Given the description of an element on the screen output the (x, y) to click on. 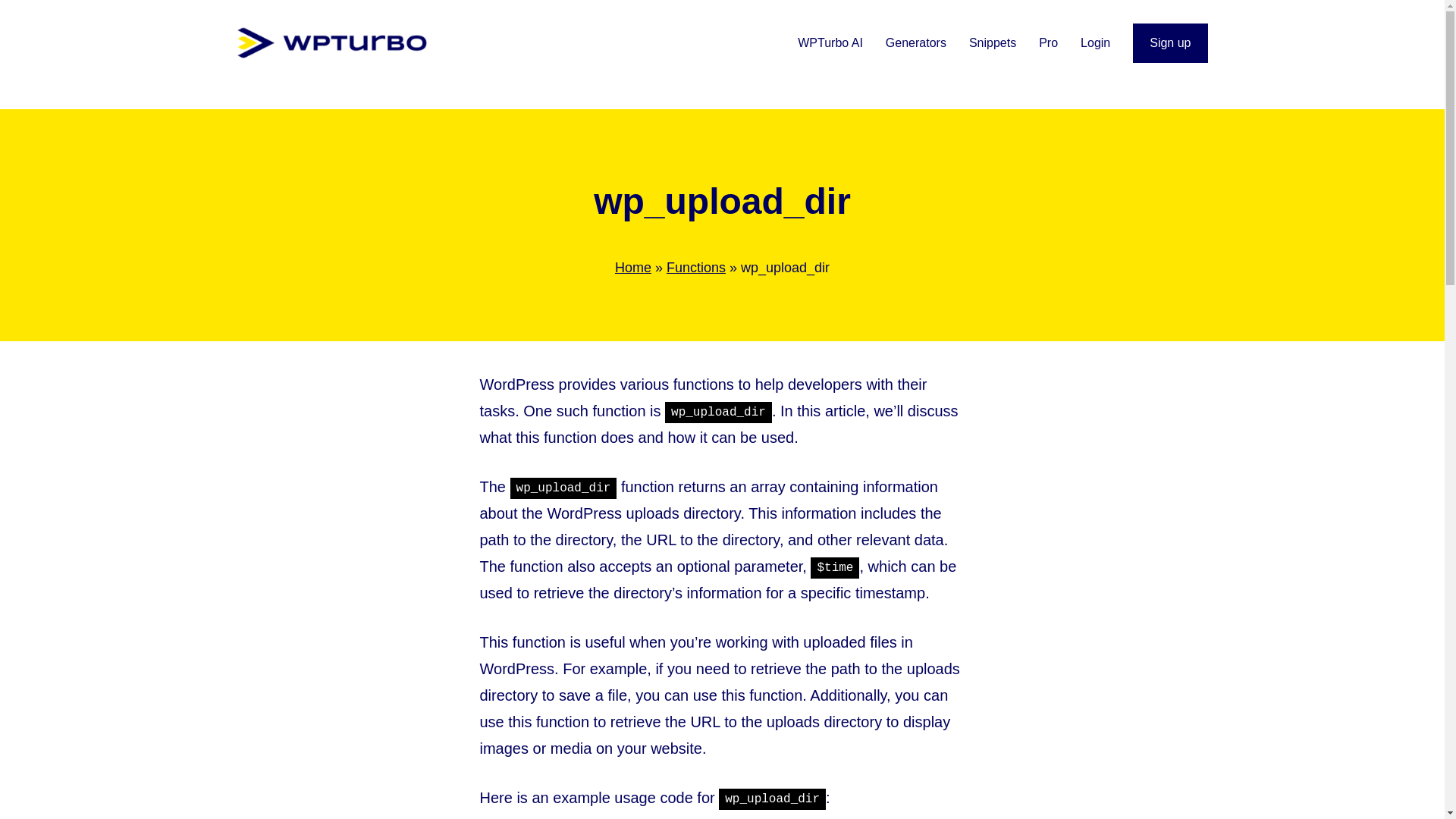
Snippets (992, 43)
Pro (1048, 43)
Functions (695, 267)
Sign up (1169, 43)
Generators (915, 43)
Login (1094, 43)
WPTurbo AI (830, 43)
Home (632, 267)
